Given the description of an element on the screen output the (x, y) to click on. 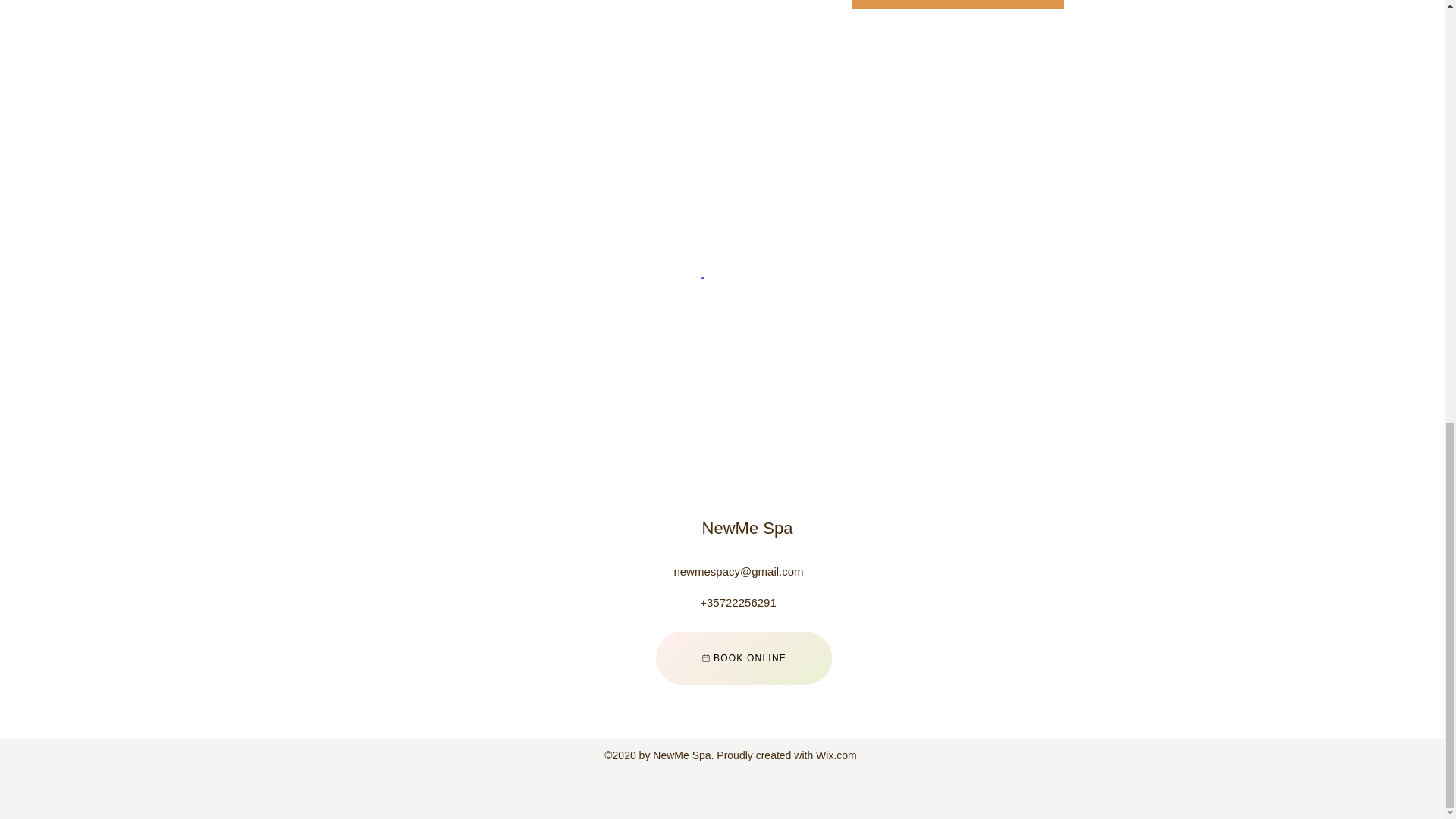
BOOK ONLINE (743, 657)
Out of Stock (956, 4)
NewMe Spa (747, 527)
